Given the description of an element on the screen output the (x, y) to click on. 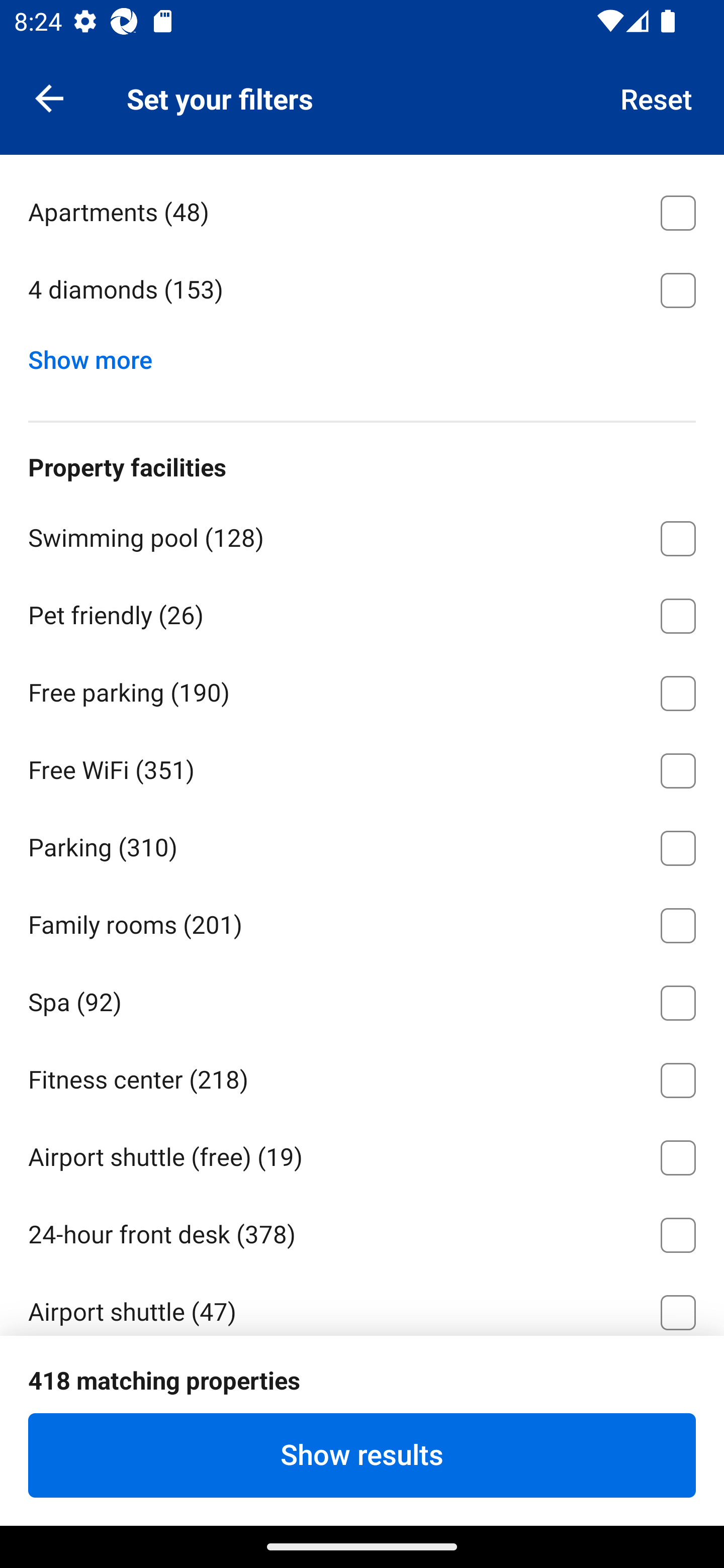
Navigate up (49, 97)
Reset (656, 97)
Apartments ⁦(48) (361, 208)
4 diamonds ⁦(153) (361, 289)
Show more (97, 355)
Swimming pool ⁦(128) (361, 535)
Pet friendly ⁦(26) (361, 611)
Free parking ⁦(190) (361, 689)
Free WiFi ⁦(351) (361, 767)
Parking ⁦(310) (361, 843)
Family rooms ⁦(201) (361, 921)
Spa ⁦(92) (361, 999)
Fitness center ⁦(218) (361, 1077)
Airport shuttle (free) ⁦(19) (361, 1154)
24-hour front desk ⁦(378) (361, 1231)
Airport shuttle ⁦(47) (361, 1302)
Restaurant ⁦(280) (361, 1386)
Show results (361, 1454)
